Given the description of an element on the screen output the (x, y) to click on. 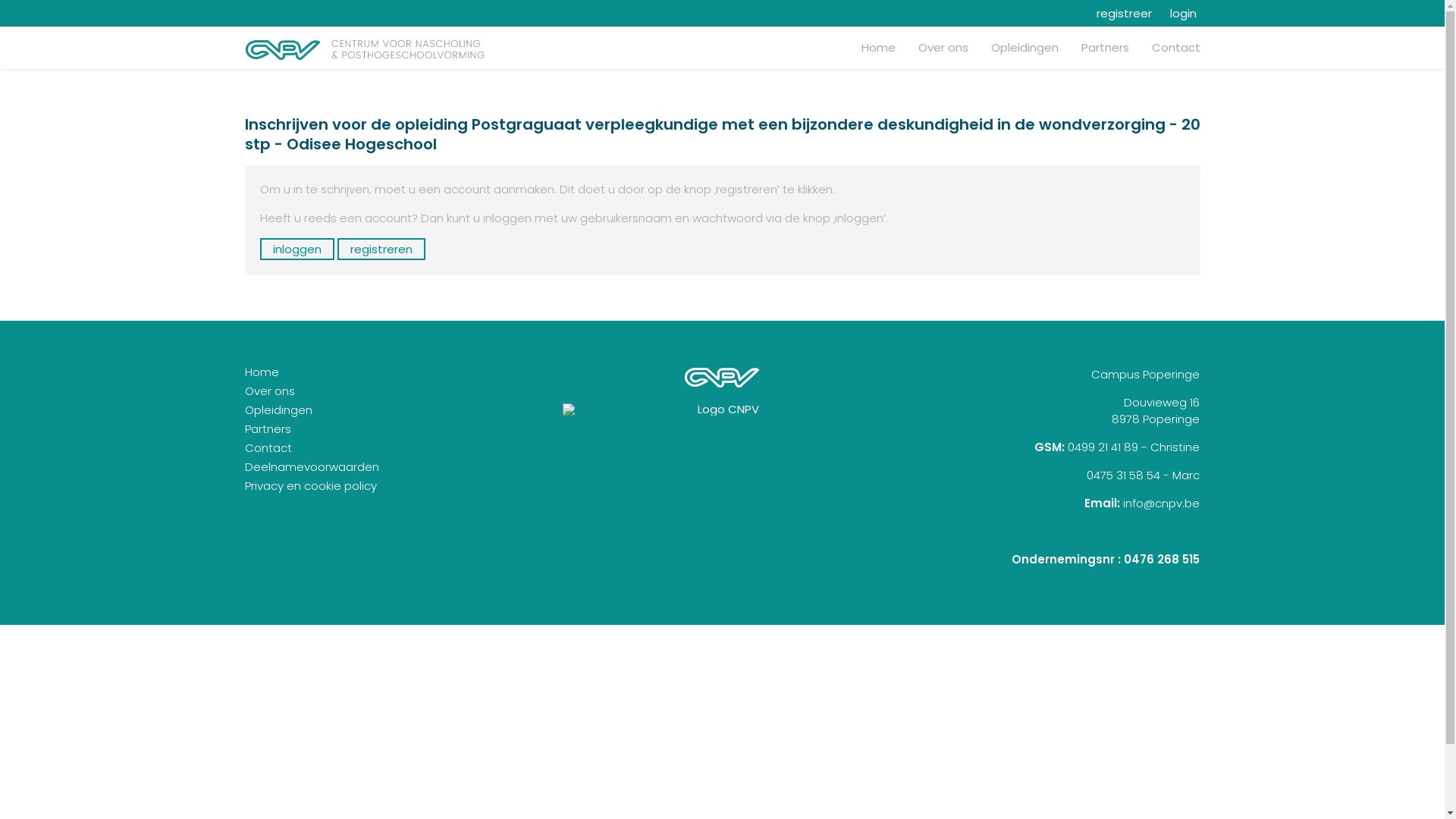
Deelnamevoorwaarden Element type: text (311, 466)
Partners Element type: text (1105, 47)
Home Element type: text (878, 47)
Over ons Element type: text (269, 390)
registreer Element type: text (1117, 13)
registreren Element type: text (380, 249)
Opleidingen Element type: text (1023, 47)
Partners Element type: text (267, 428)
Over ons Element type: text (942, 47)
Home Element type: text (261, 371)
Privacy en cookie policy Element type: text (310, 485)
inloggen Element type: text (296, 249)
Contact Element type: text (267, 447)
Opleidingen Element type: text (277, 409)
Contact Element type: text (1175, 47)
login Element type: text (1177, 13)
